Given the description of an element on the screen output the (x, y) to click on. 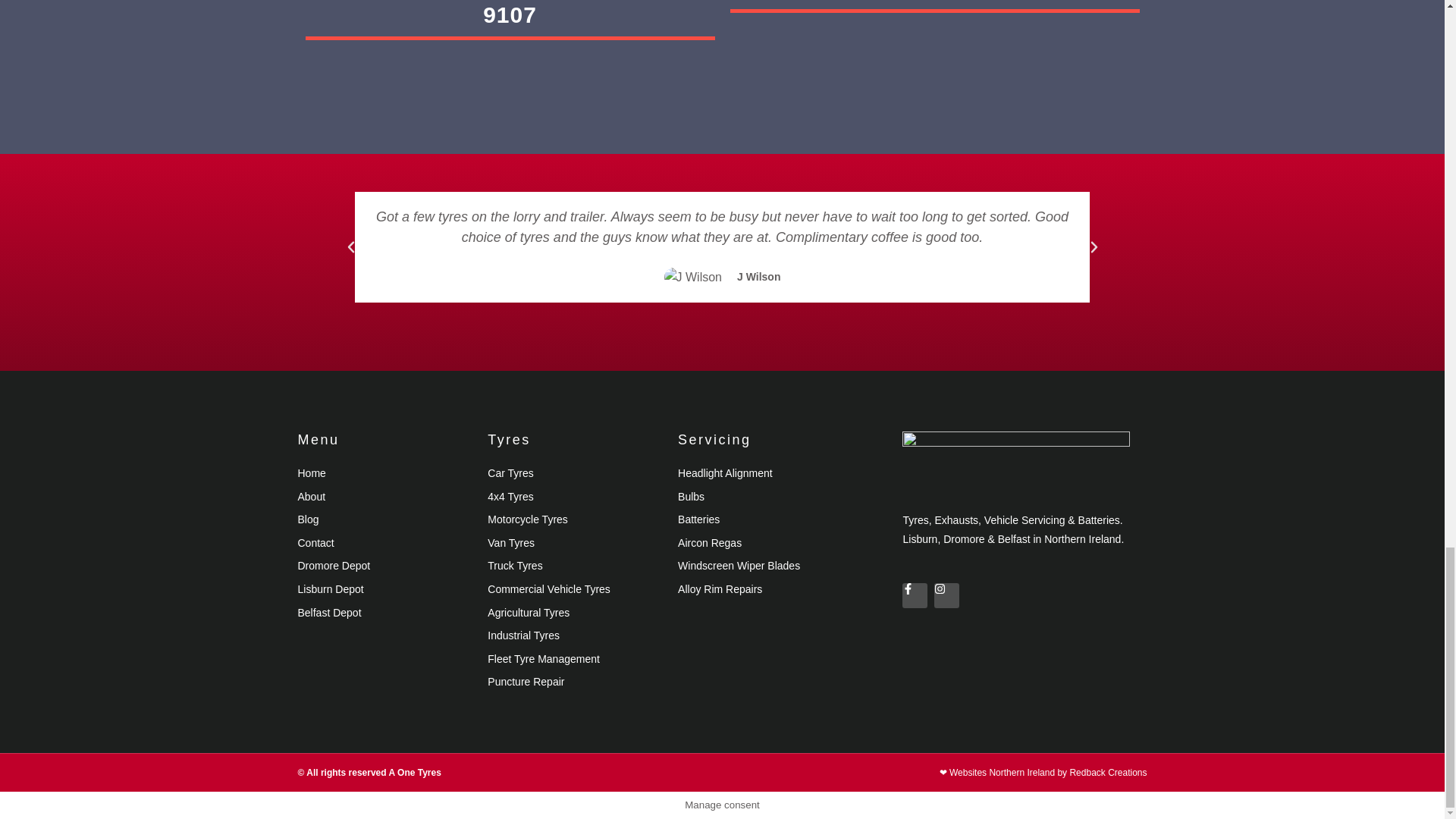
Lisburn Depot (384, 589)
Home (384, 474)
About (384, 496)
Blog (384, 519)
Dromore Depot (384, 566)
Contact (384, 543)
